Given the description of an element on the screen output the (x, y) to click on. 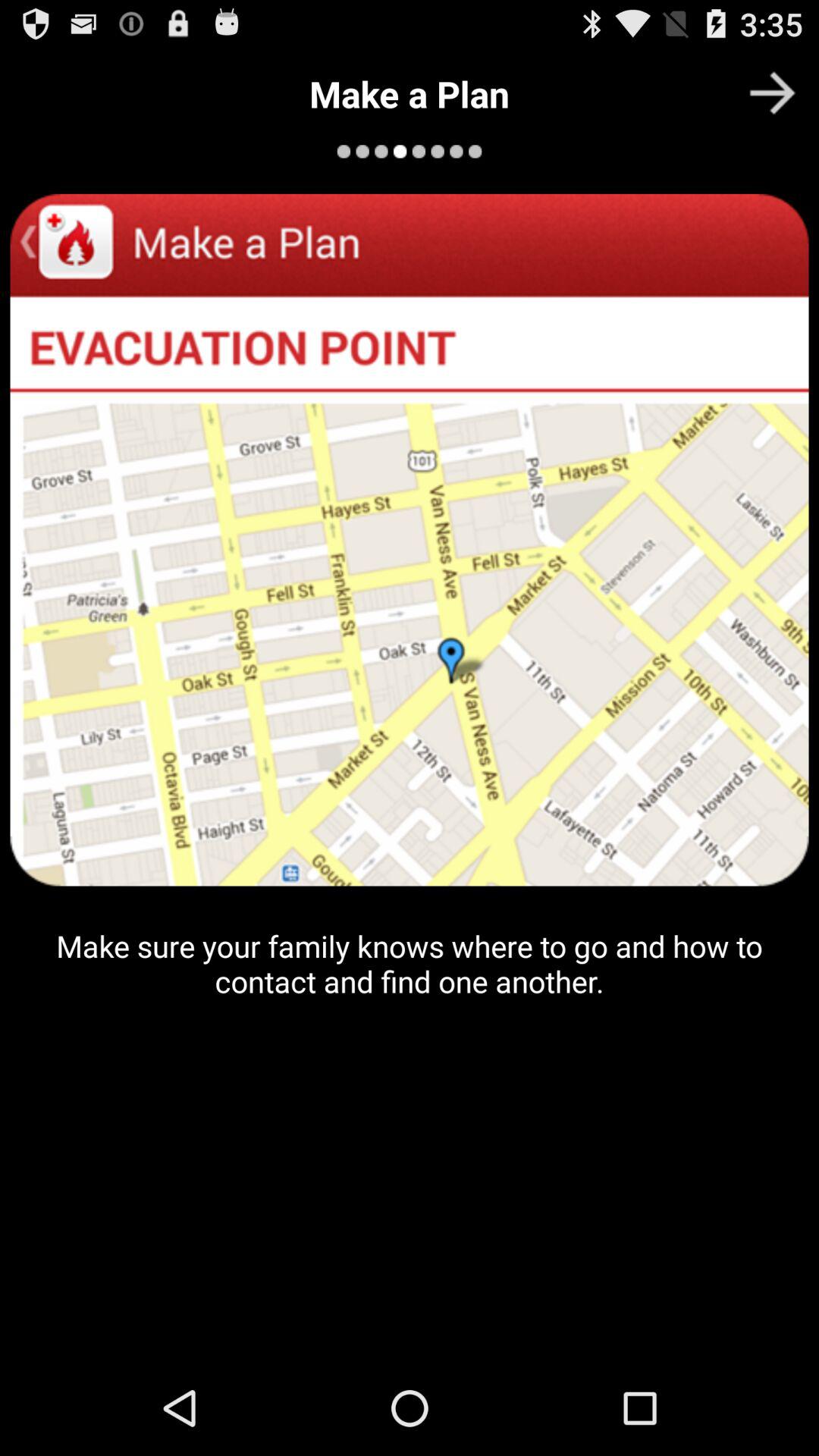
turn off item at the top right corner (772, 92)
